Given the description of an element on the screen output the (x, y) to click on. 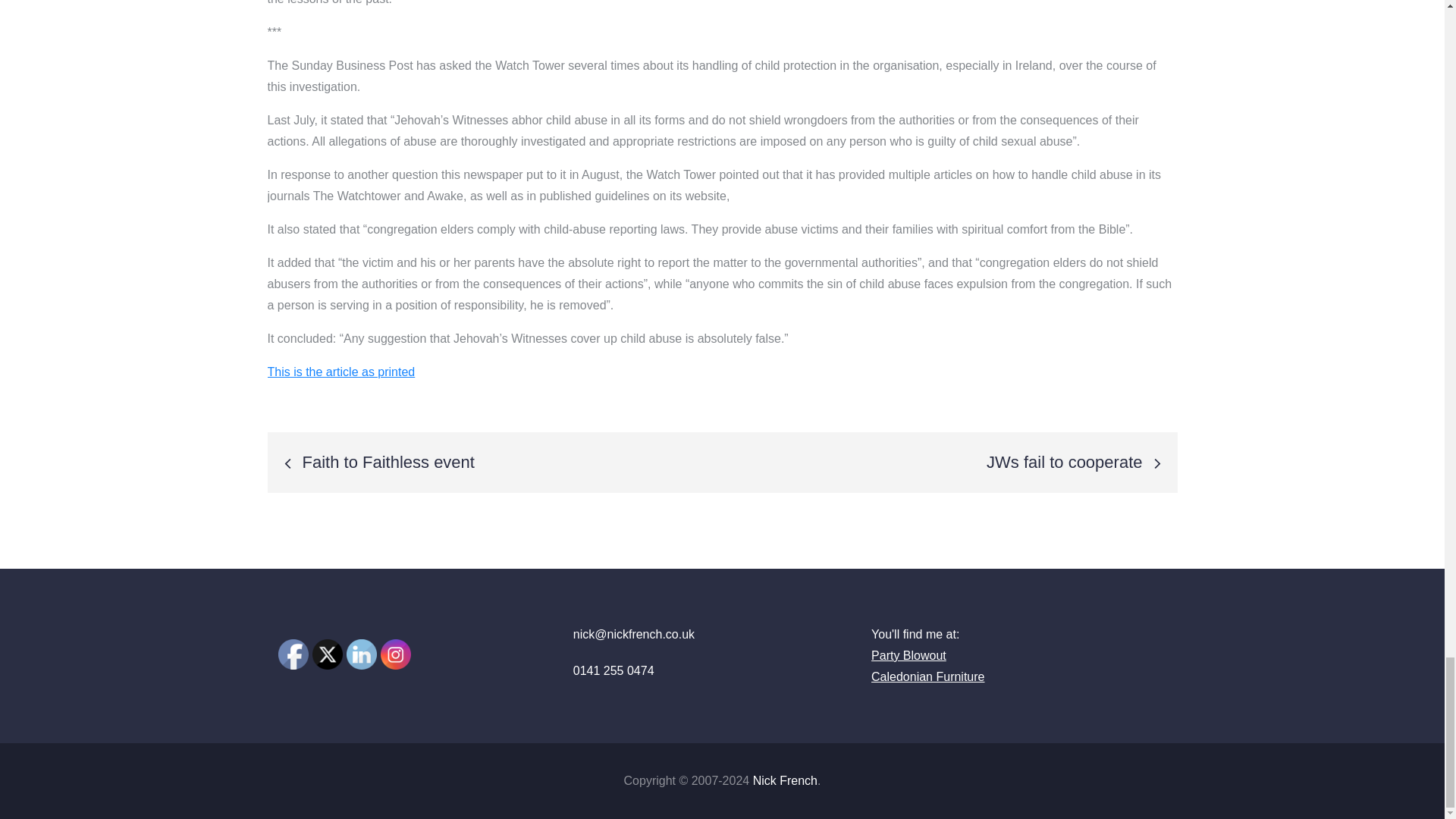
Party Blowout (908, 655)
Caledonian Furniture (927, 676)
LinkedIn (360, 654)
Twitter (327, 654)
Instagram (395, 654)
Nick French (784, 780)
Facebook (292, 654)
This is the article as printed (340, 371)
